Given the description of an element on the screen output the (x, y) to click on. 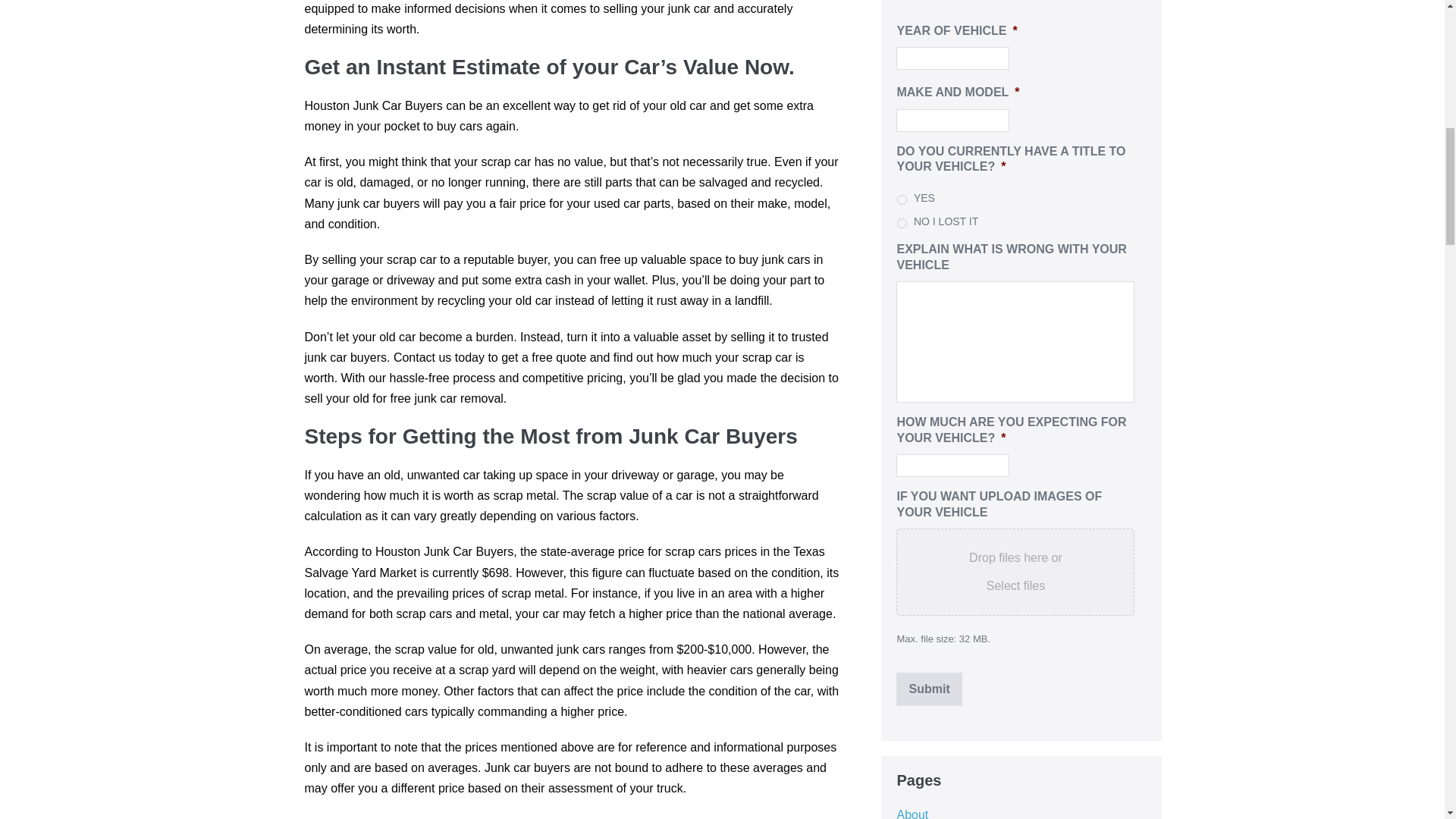
YES (901, 199)
Submit (928, 688)
Select files (1015, 585)
NO I LOST IT (901, 223)
